Given the description of an element on the screen output the (x, y) to click on. 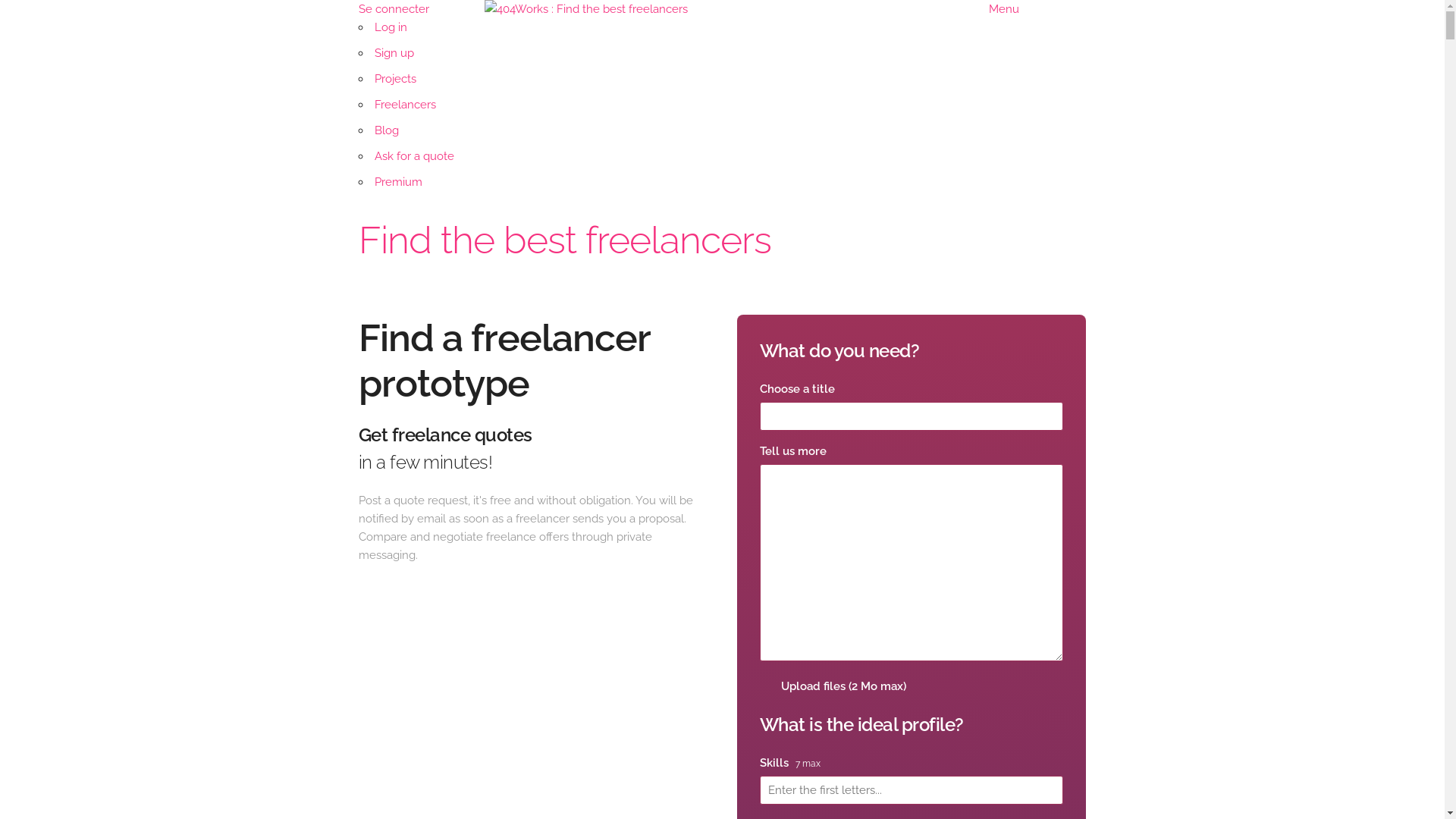
Se connecter Element type: text (392, 8)
Projects Element type: text (395, 78)
Sign up Element type: text (394, 52)
Save Element type: text (34, 14)
Log in Element type: text (390, 27)
Eg. Build me a website Element type: hover (911, 415)
Blog Element type: text (386, 130)
Premium Element type: text (398, 181)
Describe your project here... Element type: hover (911, 562)
Menu Element type: text (1003, 8)
Freelancers Element type: text (405, 104)
Find the best freelancers Element type: text (563, 239)
Ask for a quote Element type: text (414, 156)
